Given the description of an element on the screen output the (x, y) to click on. 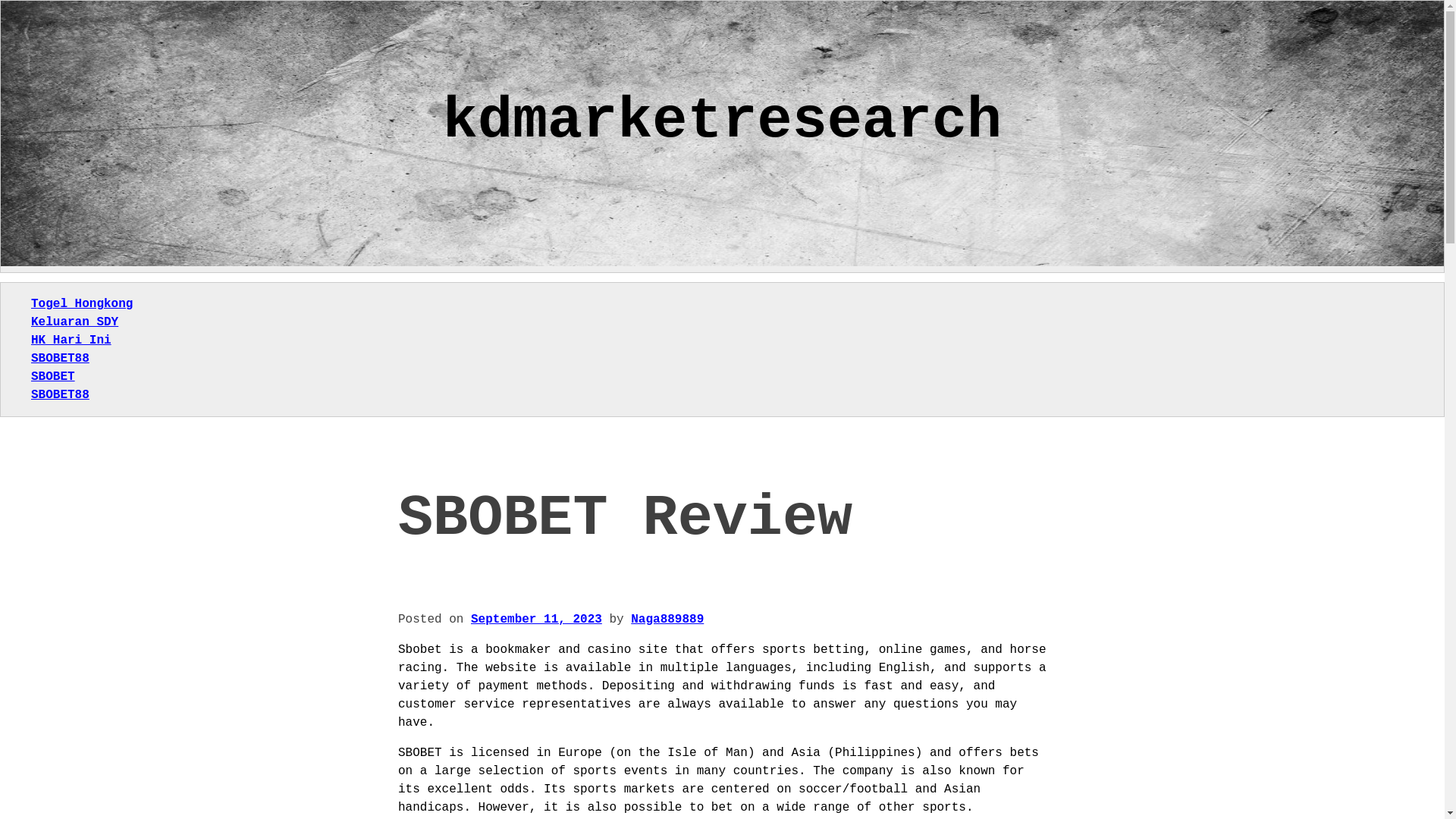
SBOBET88 (59, 395)
Togel Hongkong (81, 304)
SBOBET (52, 377)
kdmarketresearch (721, 120)
Keluaran SDY (73, 322)
SBOBET88 (59, 358)
HK Hari Ini (71, 340)
September 11, 2023 (536, 619)
Naga889889 (666, 619)
